Given the description of an element on the screen output the (x, y) to click on. 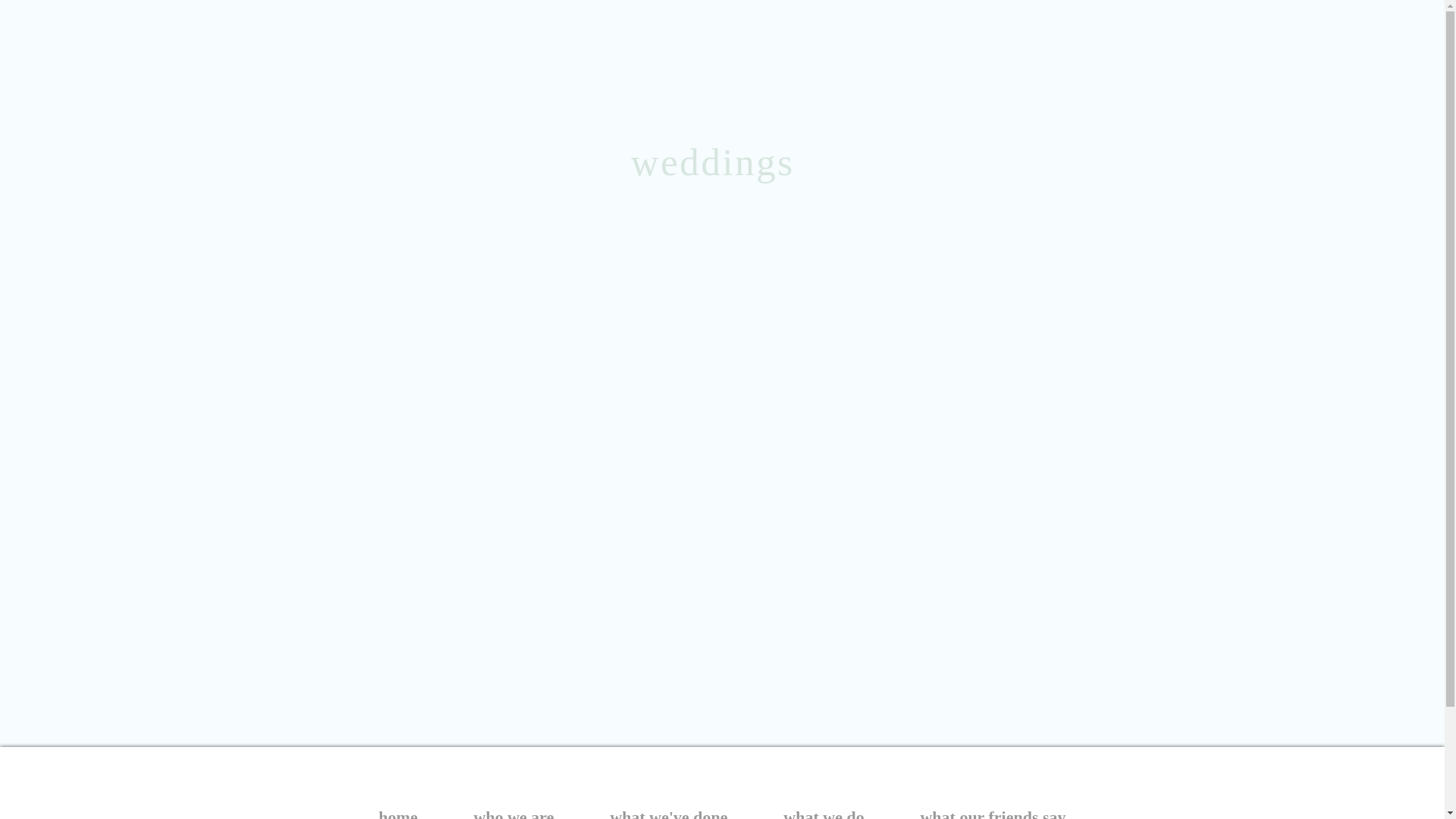
who we are (513, 811)
what we do (823, 811)
what we've done (668, 811)
what our friends say (992, 811)
home (397, 811)
